Given the description of an element on the screen output the (x, y) to click on. 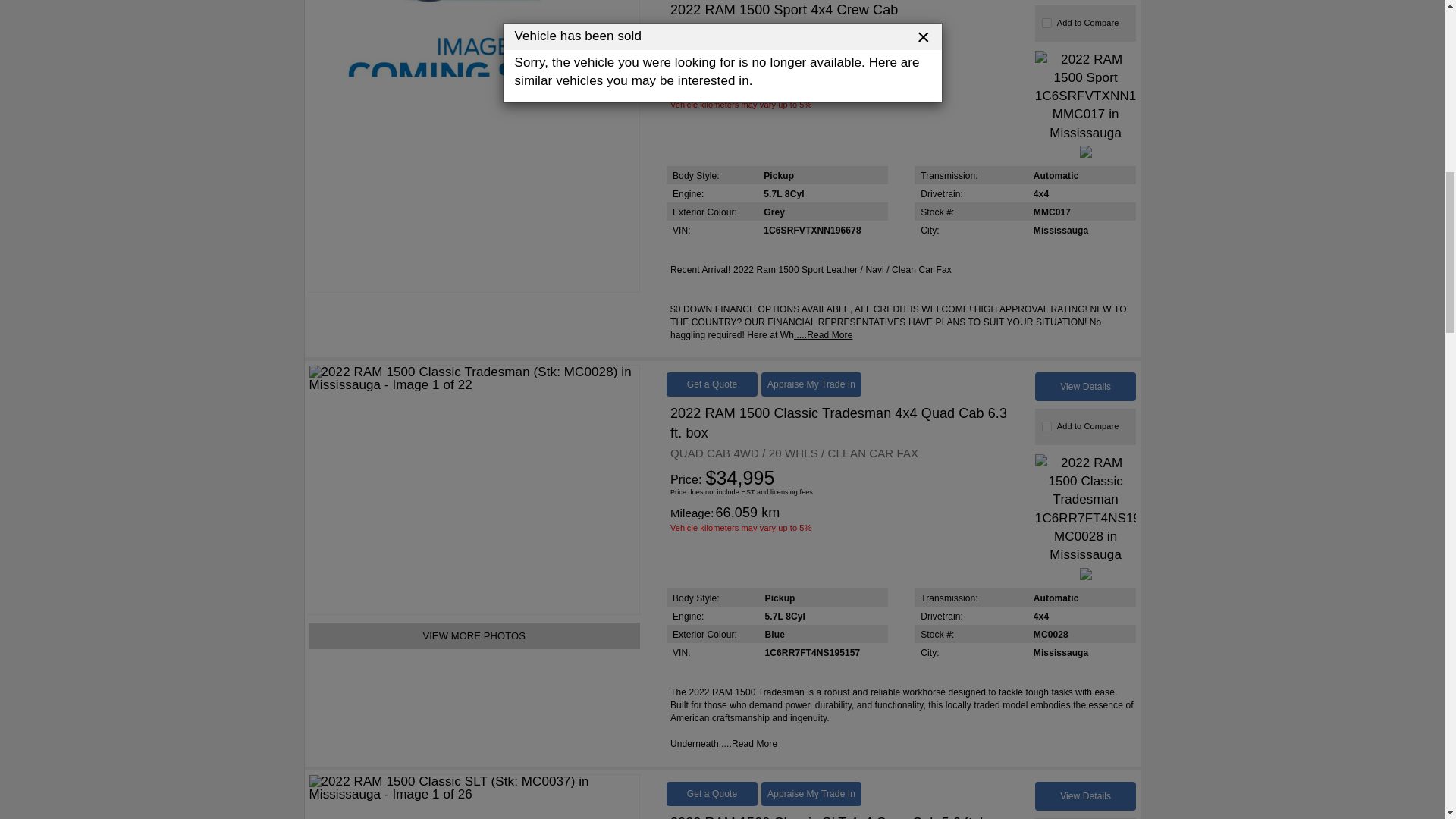
unchecked (1046, 22)
2022 RAM 1500 Sport in Mississauga (474, 146)
2022 RAM 1500 Sport 1C6SRFVTXNN196678 MMC017 in Mississauga (1086, 96)
unchecked (1046, 426)
